Given the description of an element on the screen output the (x, y) to click on. 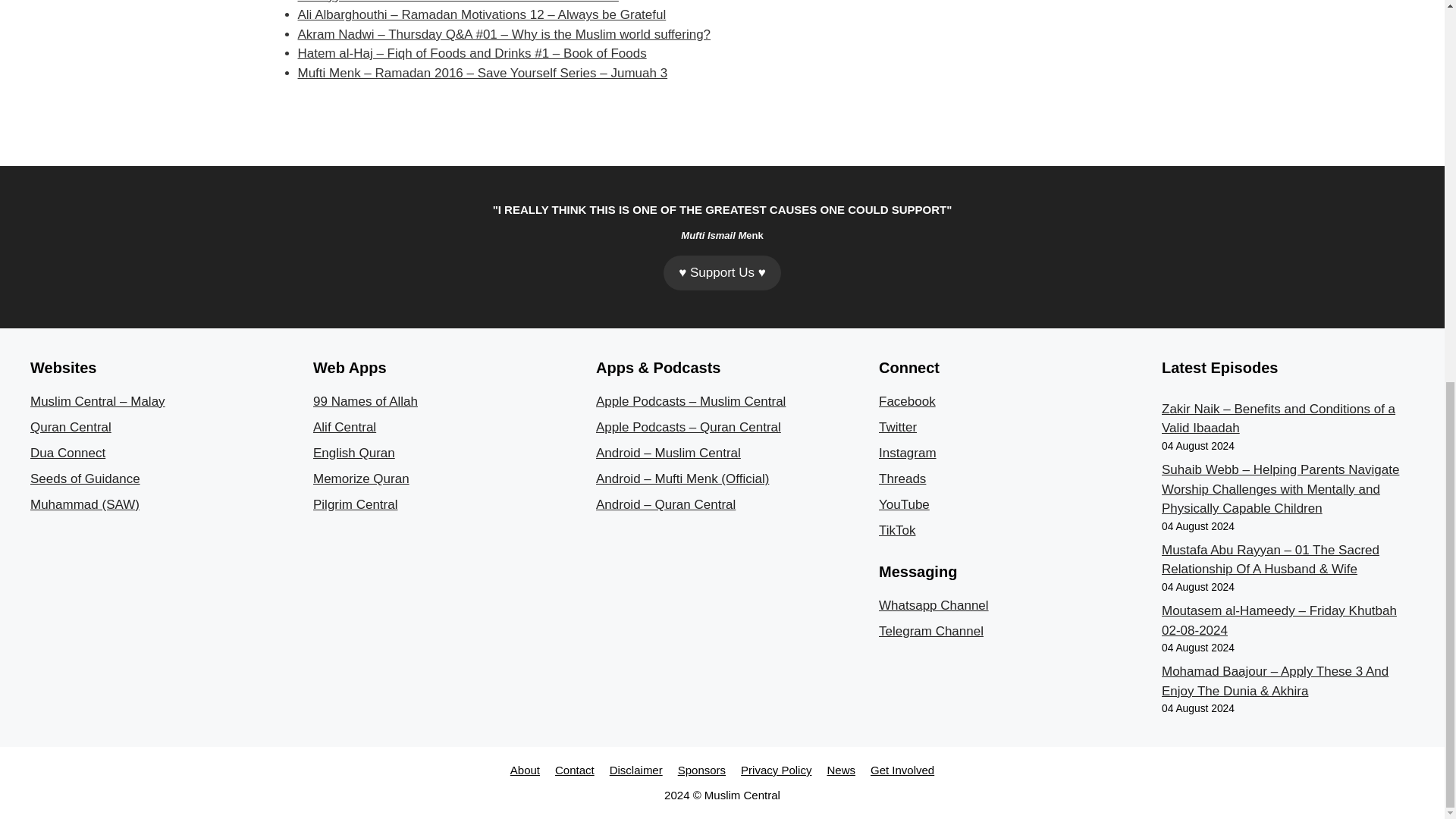
99 Names of Allah (365, 400)
Memorize Quran (361, 478)
English Quran (353, 452)
Quran Central (71, 427)
Alif Central (344, 427)
Seeds of Guidance (84, 478)
Dua Connect (67, 452)
